Given the description of an element on the screen output the (x, y) to click on. 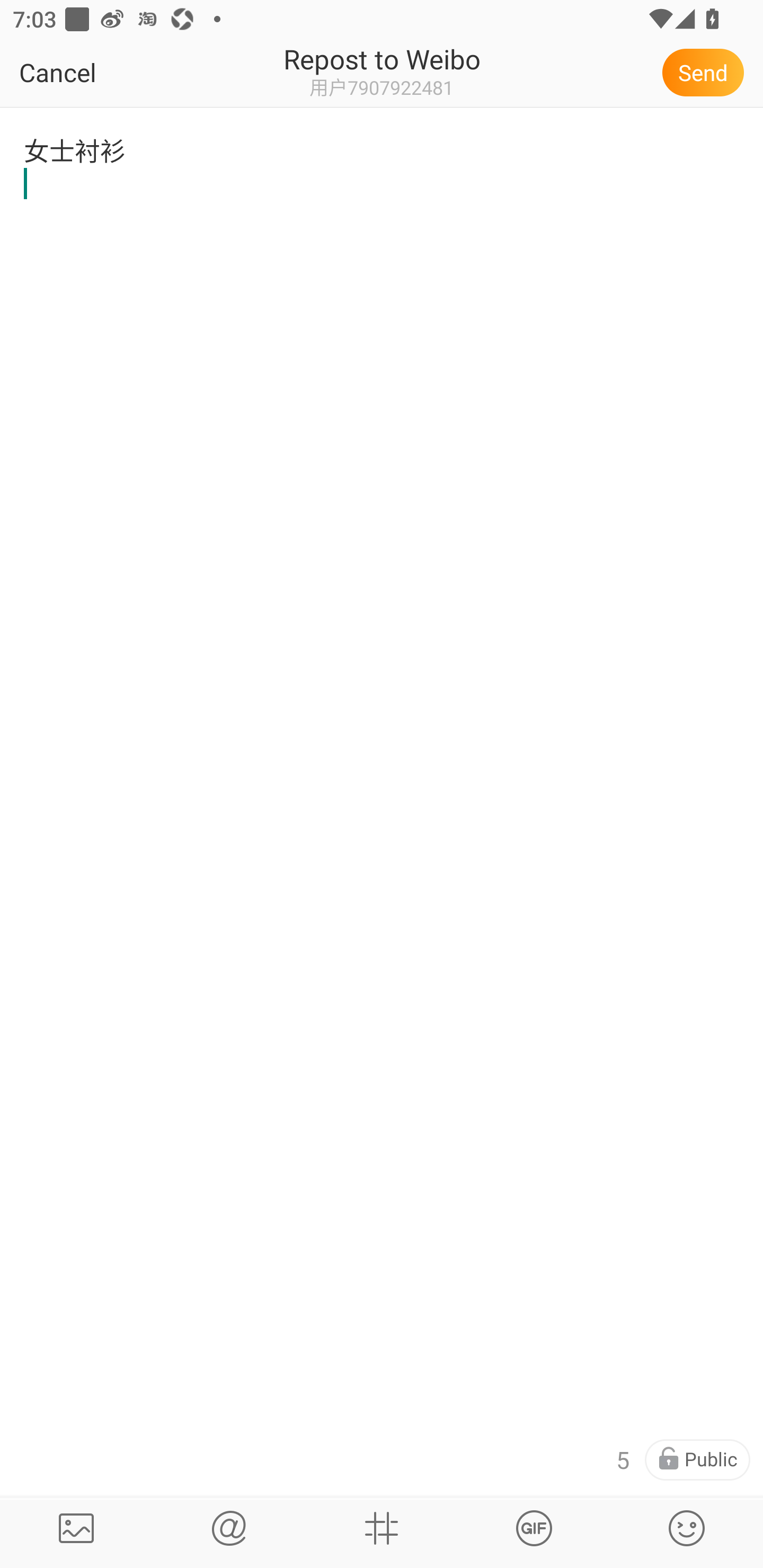
Cancel (99, 71)
Send (706, 71)
女士衬衫
 (381, 179)
Meyou Public (697, 1459)
5 Number of words available: (621, 1459)
Pictures Upload (76, 1527)
Search (228, 1527)
Topics, movies, books, songs, places, stocks (381, 1527)
Topics, movies, books, songs, places, stocks (533, 1527)
请插入表情 (686, 1527)
